Given the description of an element on the screen output the (x, y) to click on. 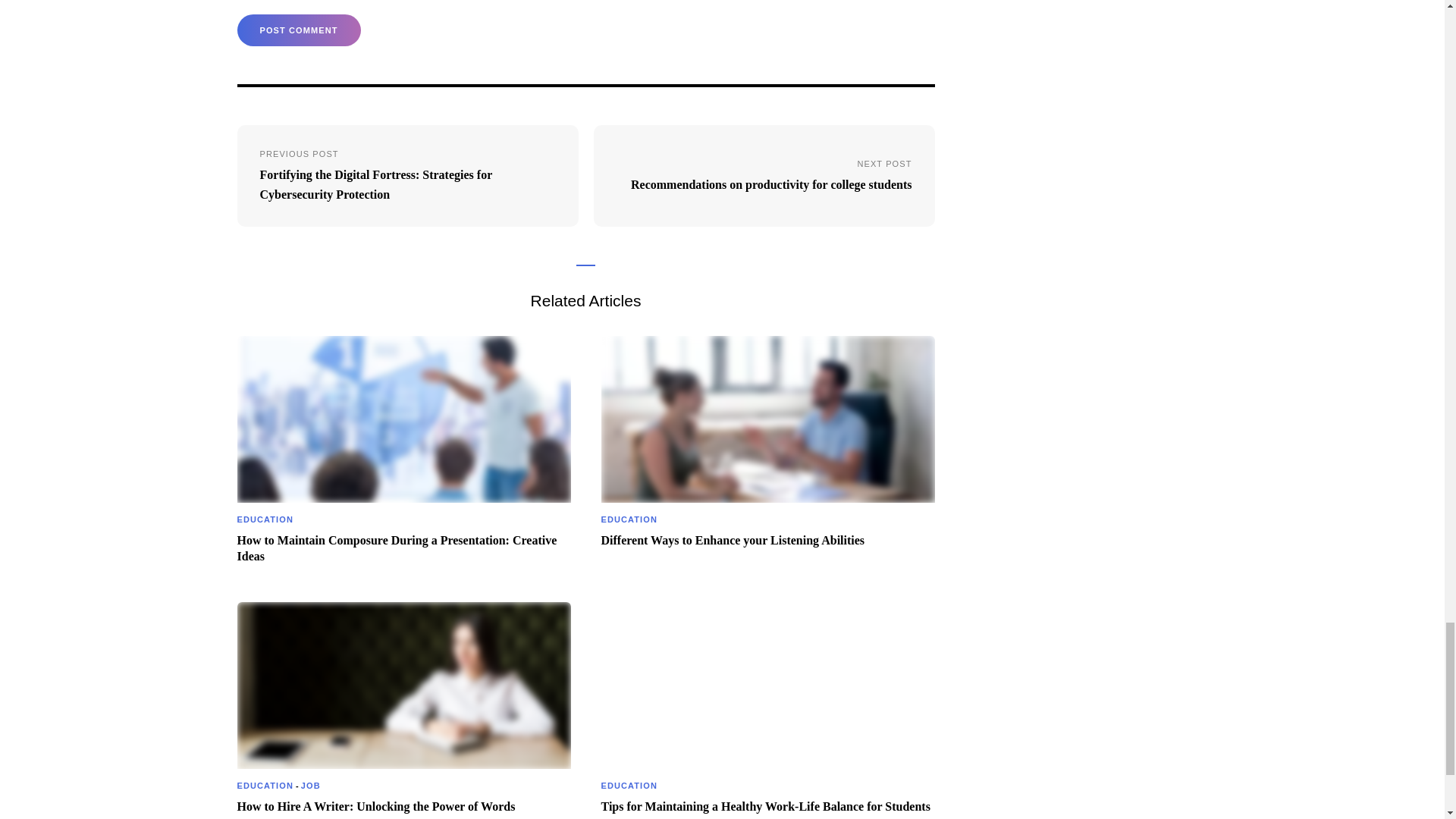
Post Comment (297, 29)
EDUCATION (627, 785)
Different Ways to Enhance your Listening Abilities (731, 540)
EDUCATION (627, 519)
Post Comment (297, 29)
EDUCATION (263, 785)
